Given the description of an element on the screen output the (x, y) to click on. 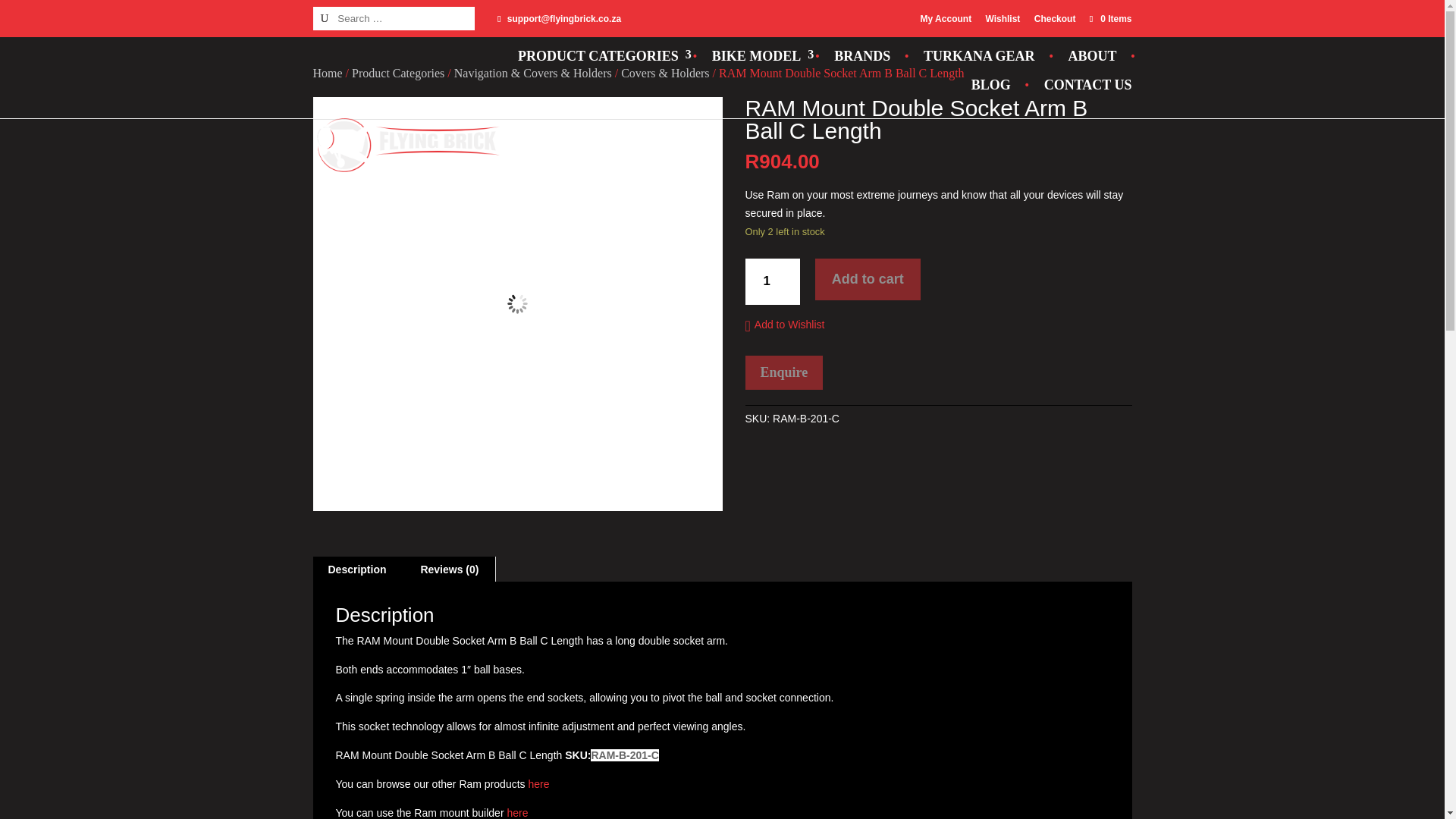
BIKE MODEL (756, 55)
Wishlist (1002, 17)
0 Items (1108, 18)
Checkout (1054, 17)
BRANDS (861, 55)
ABOUT (1091, 55)
PRODUCT CATEGORIES (598, 55)
Enquire (783, 372)
1 (771, 281)
BLOG (990, 84)
